Given the description of an element on the screen output the (x, y) to click on. 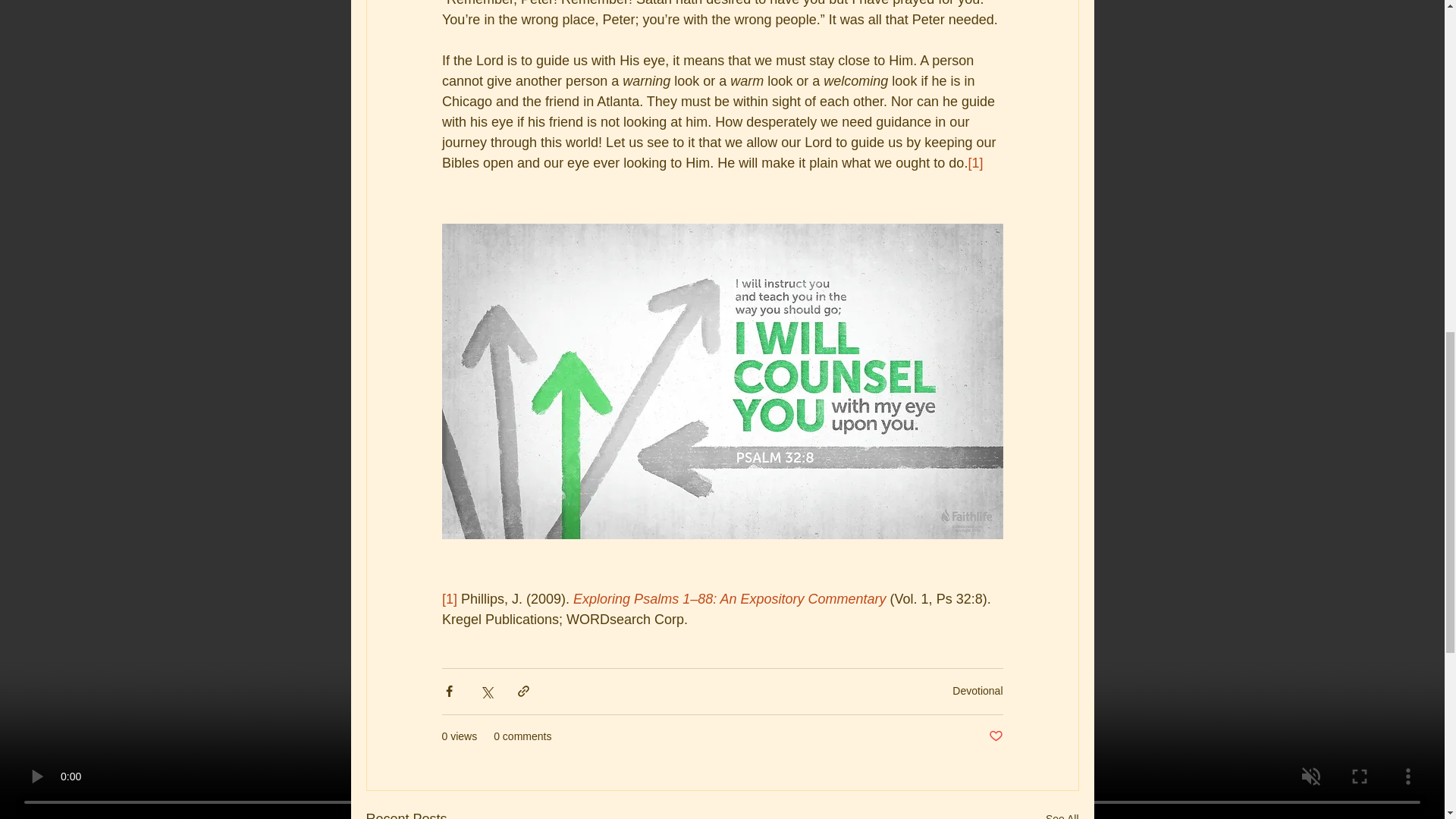
Devotional (977, 690)
Post not marked as liked (995, 736)
See All (1061, 813)
